Given the description of an element on the screen output the (x, y) to click on. 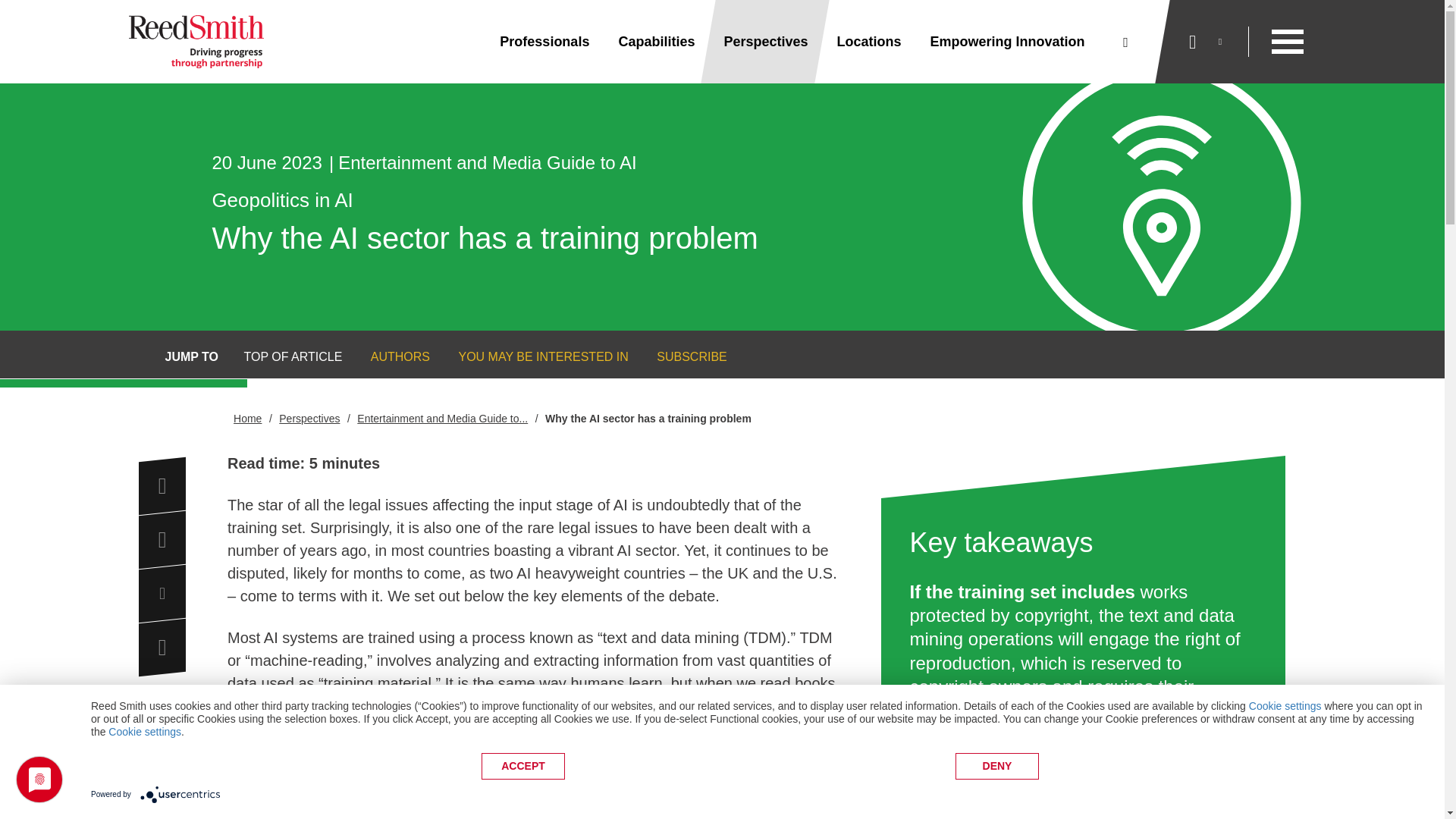
Jump to SUBSCRIBE Section (681, 356)
Professionals (544, 41)
Jump to AUTHORS Section (390, 356)
Jump to TOP OF ARTICLE Section (283, 356)
TOP OF ARTICLE (283, 356)
AUTHORS (390, 356)
TOP OF ARTICLE (293, 356)
YOU MAY BE INTERESTED IN (532, 356)
JUMP TO (192, 356)
SUBSCRIBE (681, 356)
AUTHORS (400, 356)
Authors: Sophie Goossens Joshua Love Lucile Bouhanna (535, 776)
SUBSCRIBE (691, 356)
SUBSCRIBE (681, 356)
